Given the description of an element on the screen output the (x, y) to click on. 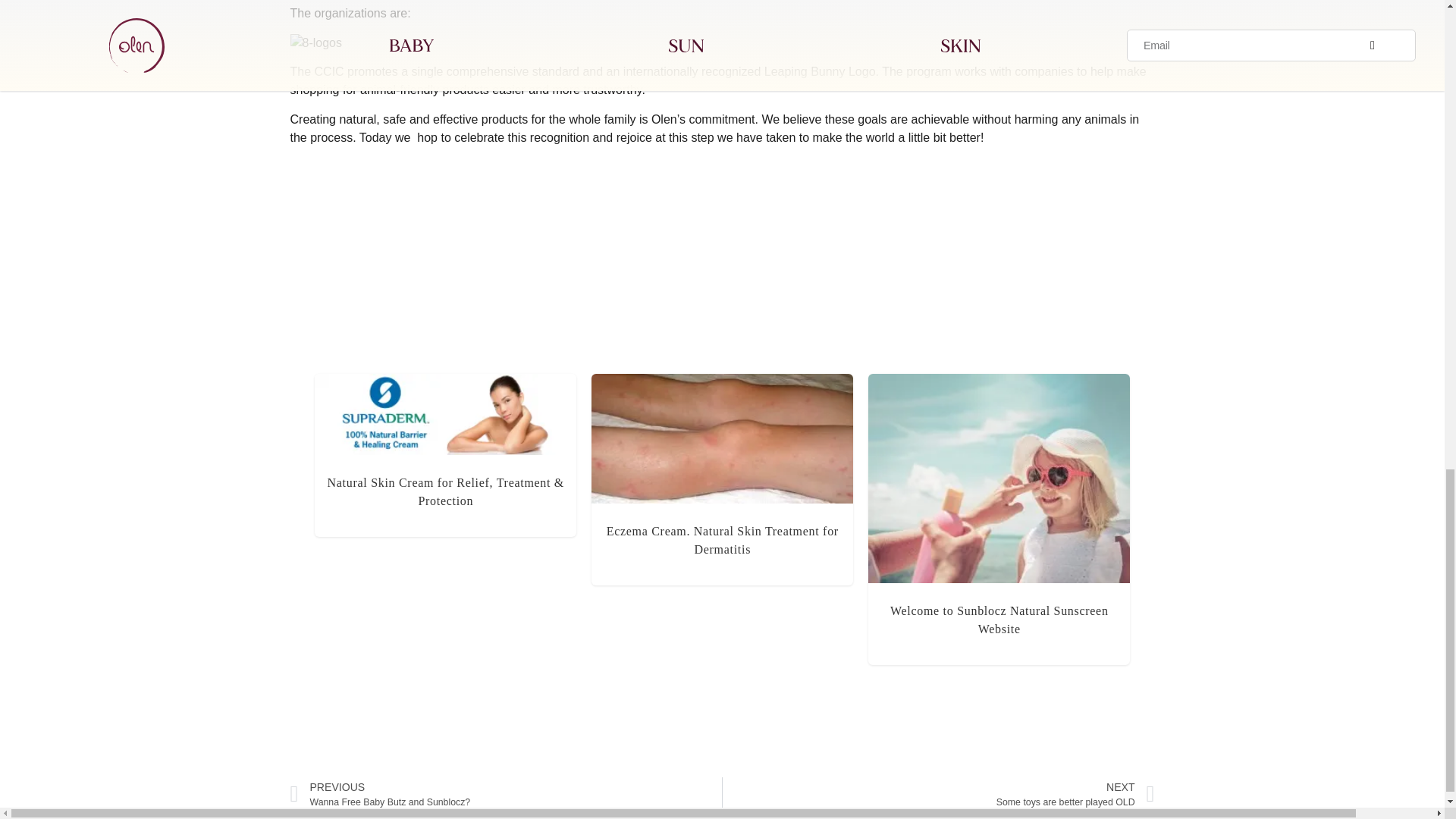
img1 (722, 438)
Eczema Cream. Natural Skin Treatment for Dermatitis (722, 540)
Welcome to Sunblocz Natural Sunscreen Website (998, 619)
Welcome to Sunblocz Natural Sunscreen Website (938, 794)
2 (998, 619)
Eczema Cream. Natural Skin Treatment for Dermatitis (505, 794)
